Given the description of an element on the screen output the (x, y) to click on. 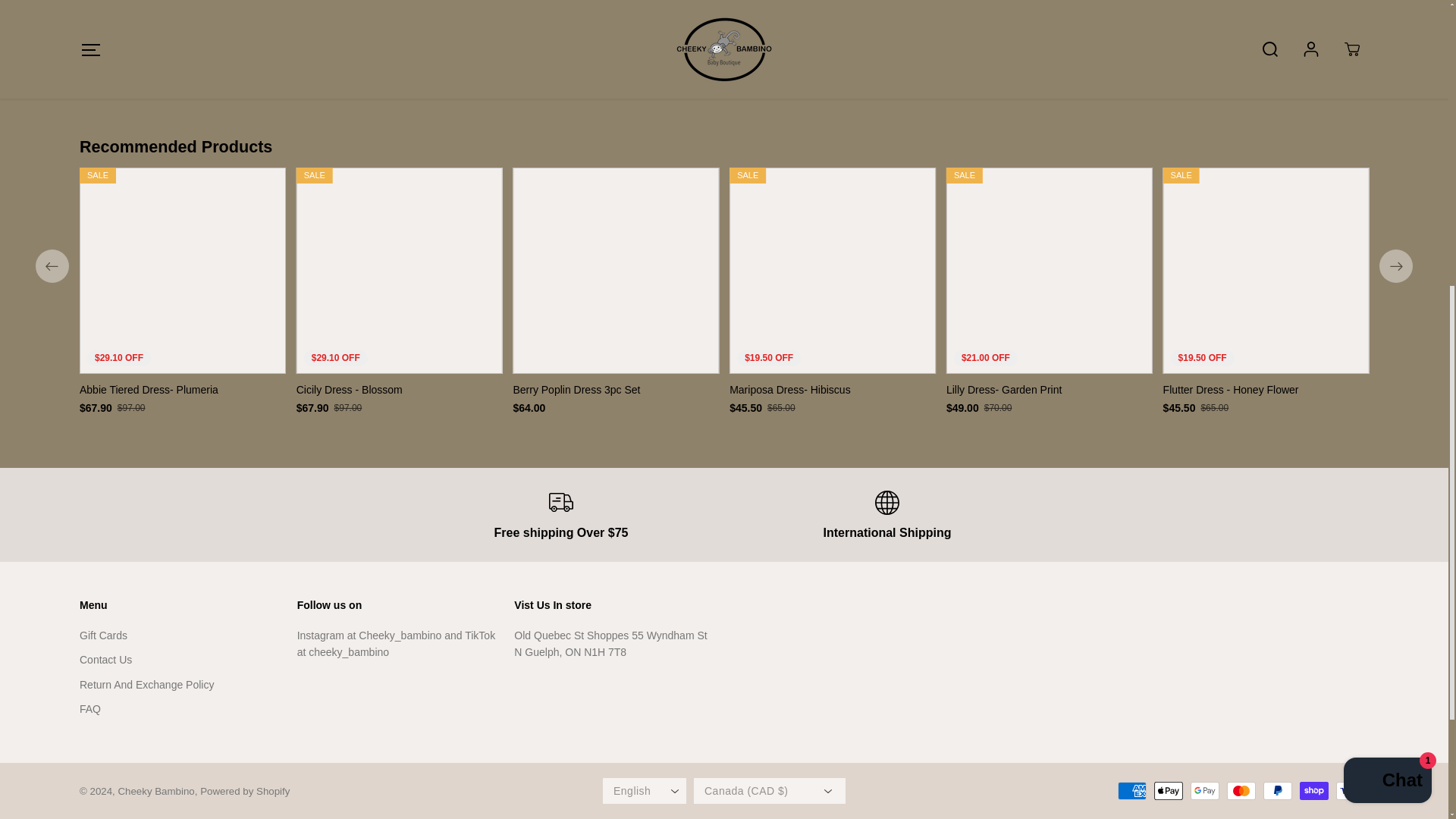
American Express (1132, 791)
Visa (1350, 791)
PayPal (1277, 791)
Mastercard (1241, 791)
Google Pay (1205, 791)
Apple Pay (1168, 791)
Shop Pay (1313, 791)
